Given the description of an element on the screen output the (x, y) to click on. 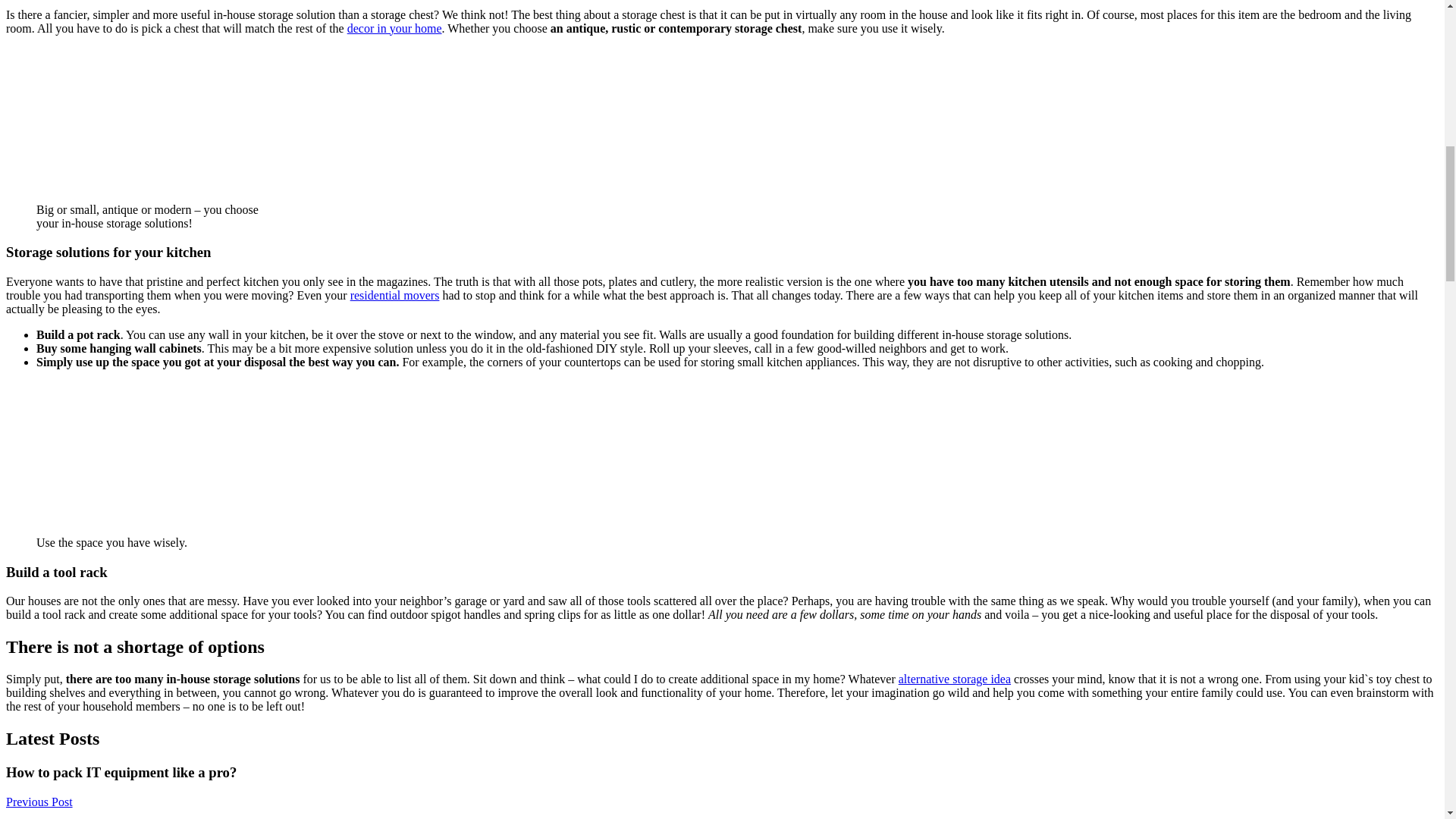
alternative storage idea (954, 678)
residential movers (394, 295)
decor in your home (394, 28)
Previous Post (38, 801)
